Given the description of an element on the screen output the (x, y) to click on. 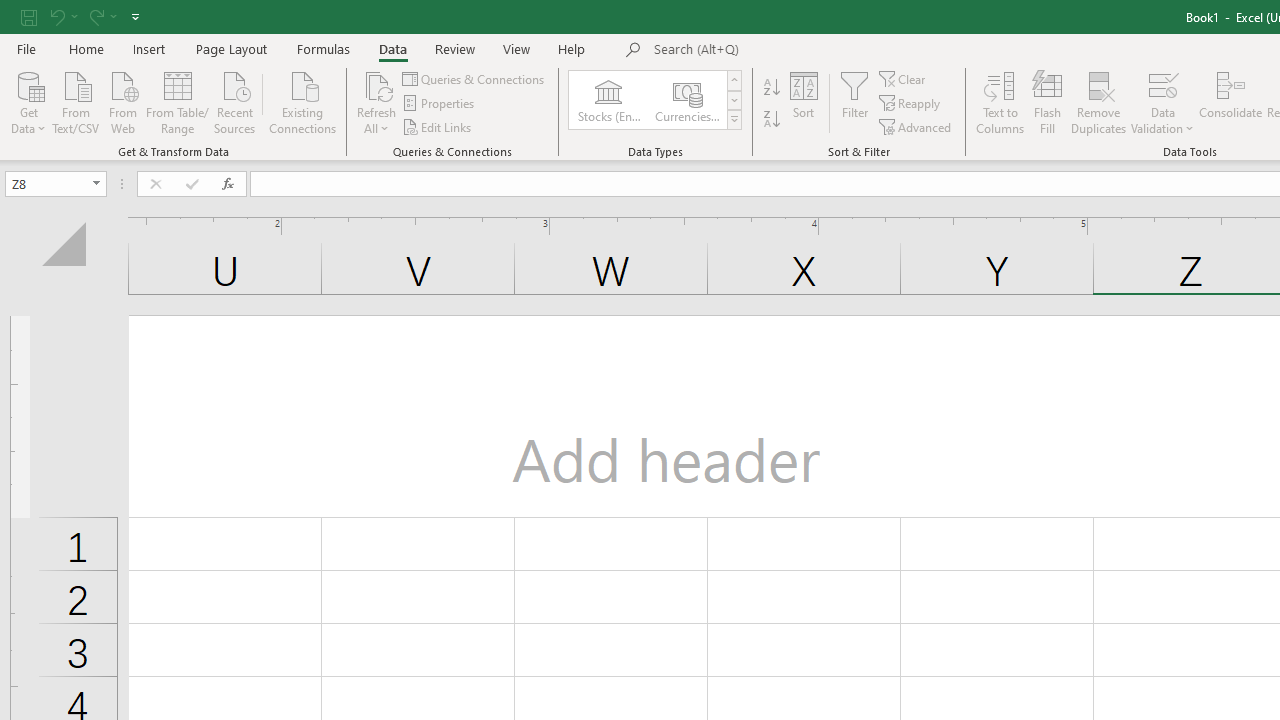
Clear (903, 78)
Row Down (734, 100)
Recent Sources (235, 101)
Redo (95, 15)
Sort A to Z (772, 87)
Currencies (English) (686, 100)
Sort Z to A (772, 119)
AutomationID: ConvertToLinkedEntity (655, 99)
Stocks (English) (608, 100)
Undo (56, 15)
View (517, 48)
Get Data (28, 101)
Sort... (804, 102)
Filter (854, 102)
